Given the description of an element on the screen output the (x, y) to click on. 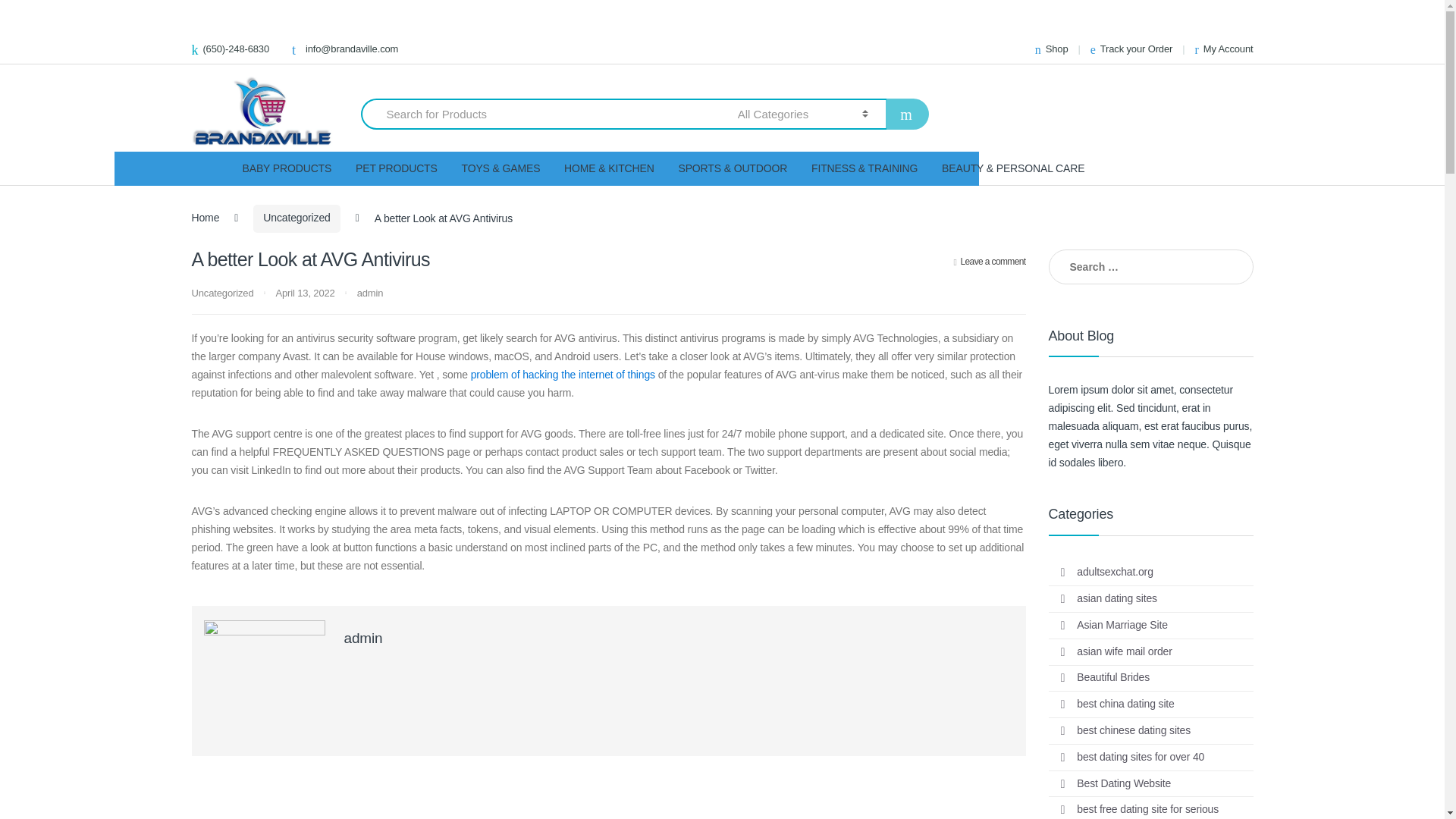
My Account (1224, 49)
Shop (1051, 49)
BABY PRODUCTS (287, 168)
Pet products (396, 168)
Shop (1051, 49)
Track your Order (1131, 49)
Track your Order (1131, 49)
Baby products (287, 168)
PET PRODUCTS (396, 168)
My Account (1224, 49)
